Given the description of an element on the screen output the (x, y) to click on. 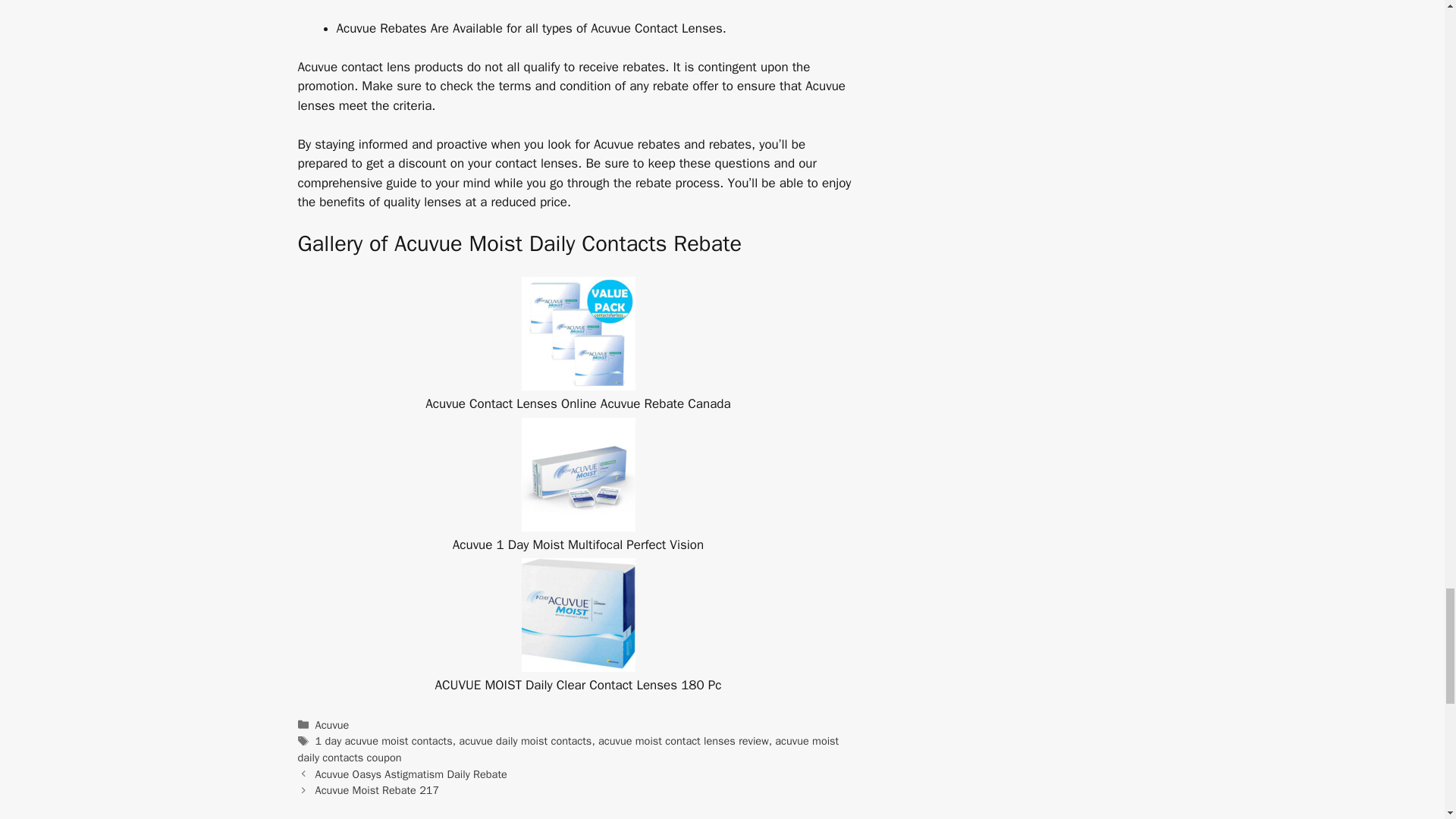
acuvue moist contact lenses review (683, 740)
Acuvue Moist Rebate 217 (377, 789)
1 day acuvue moist contacts (383, 740)
acuvue daily moist contacts (524, 740)
acuvue moist daily contacts coupon (567, 748)
Acuvue Oasys Astigmatism Daily Rebate (410, 774)
Acuvue (332, 725)
